Given the description of an element on the screen output the (x, y) to click on. 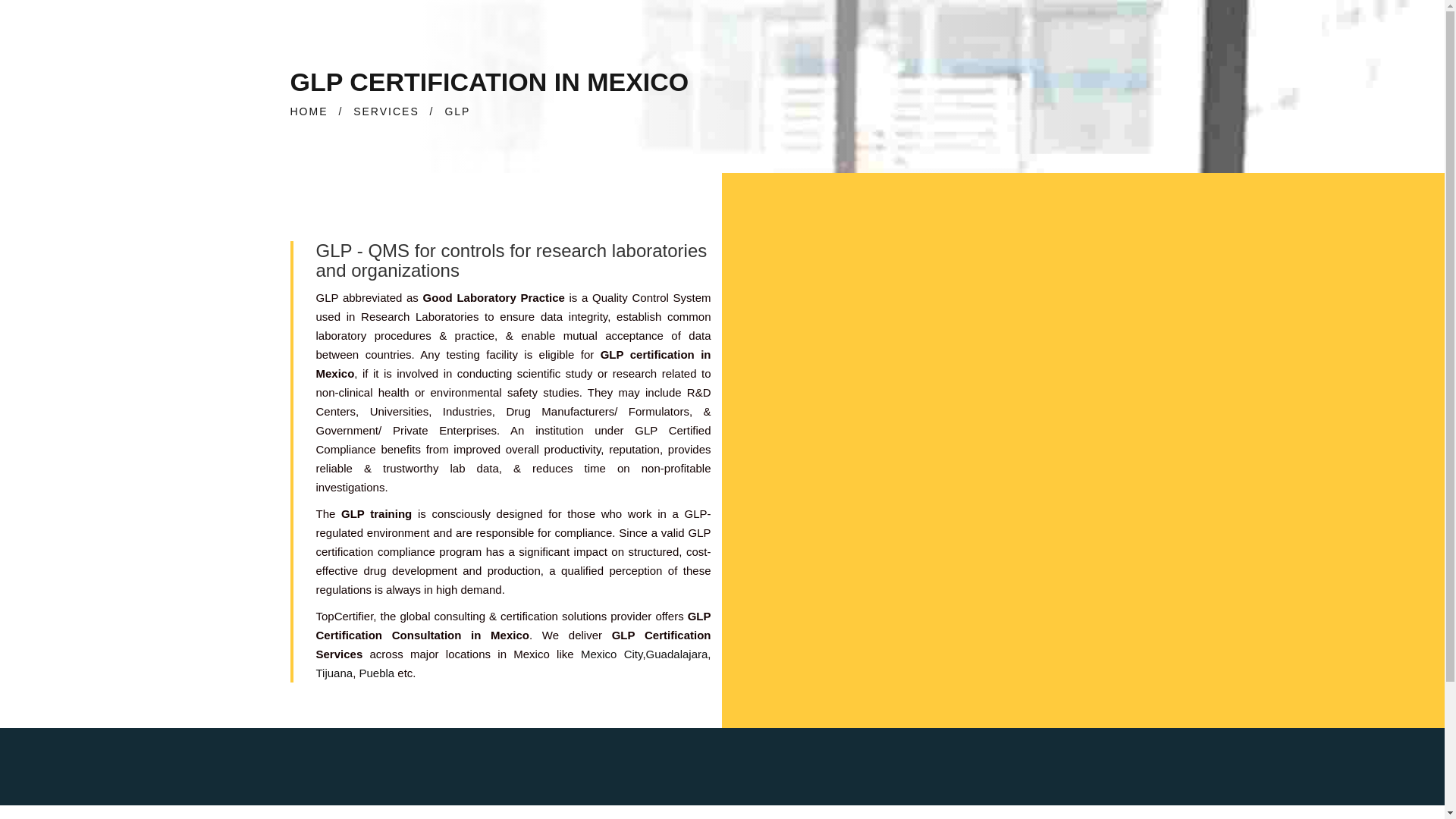
HOME (308, 111)
SERVICES (386, 111)
Tijuana (333, 672)
Mexico City (611, 653)
Puebla (374, 672)
Guadalajara (676, 653)
